Given the description of an element on the screen output the (x, y) to click on. 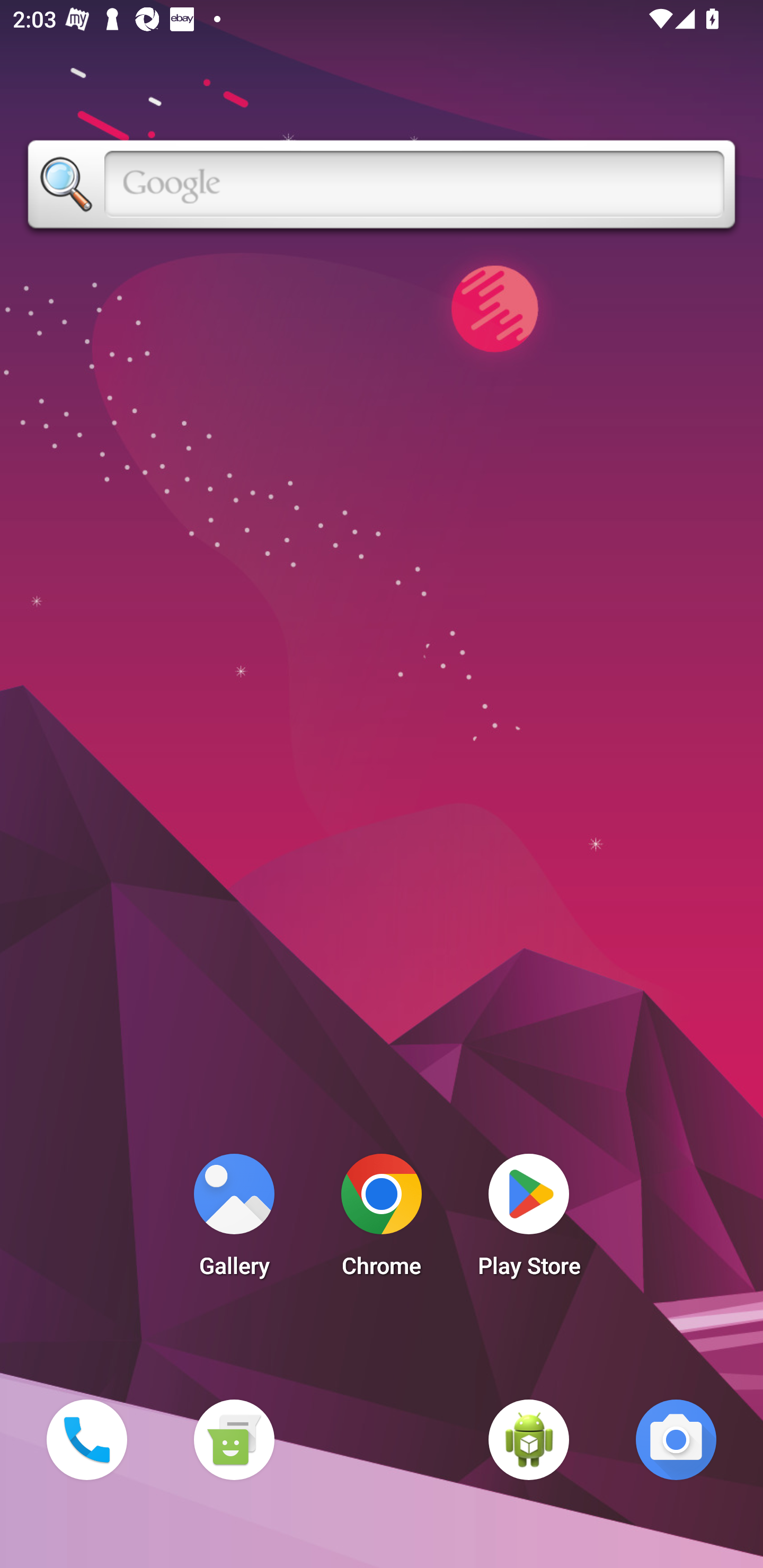
Gallery (233, 1220)
Chrome (381, 1220)
Play Store (528, 1220)
Phone (86, 1439)
Messaging (233, 1439)
WebView Browser Tester (528, 1439)
Camera (676, 1439)
